Given the description of an element on the screen output the (x, y) to click on. 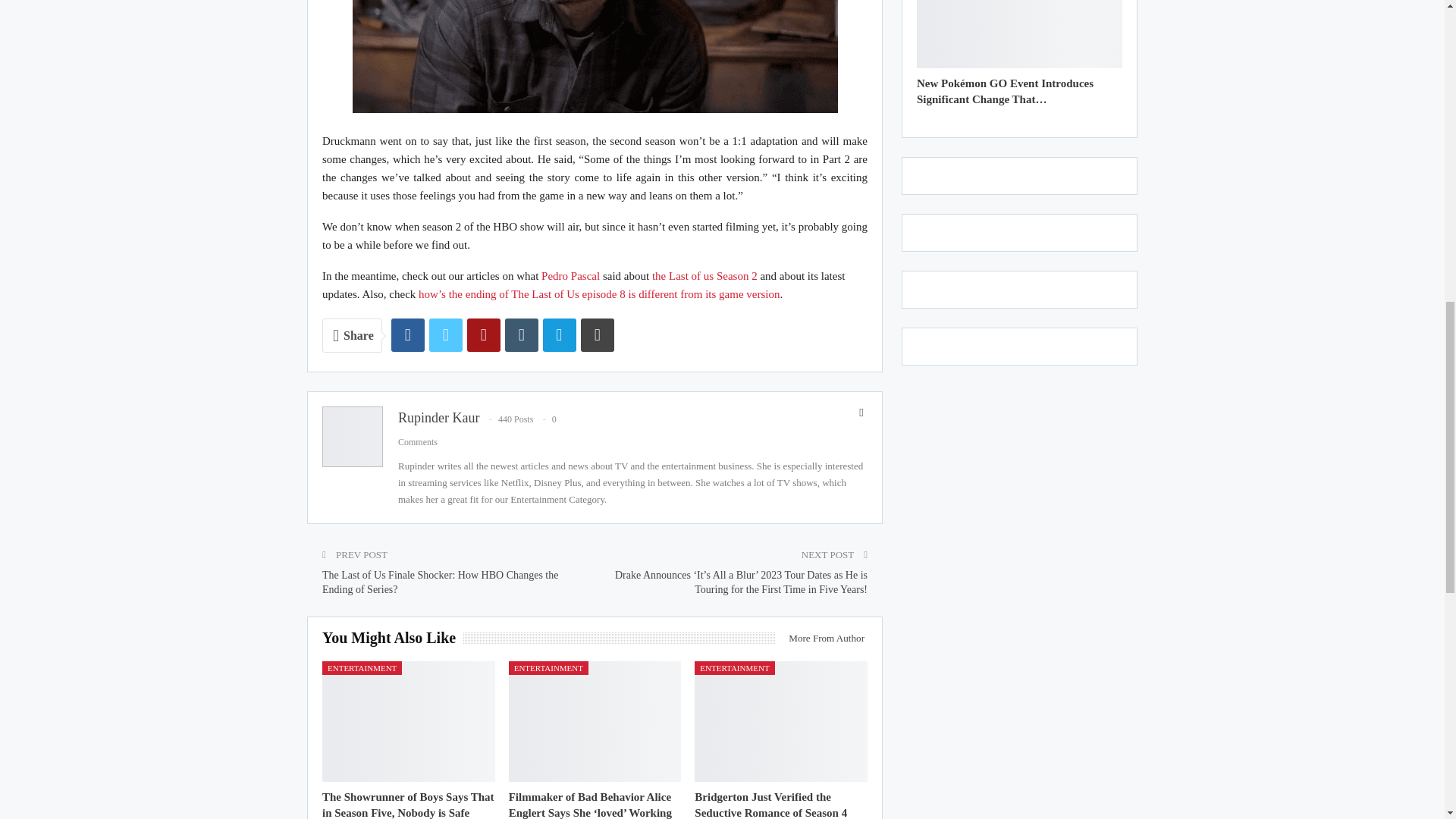
Rupinder Kaur (438, 417)
Bridgerton Just Verified the Seductive Romance of Season 4 (770, 805)
Bridgerton Just Verified the Seductive Romance of Season 4 (780, 721)
the Last of us Season 2 (704, 275)
Pedro Pascal (568, 275)
